Given the description of an element on the screen output the (x, y) to click on. 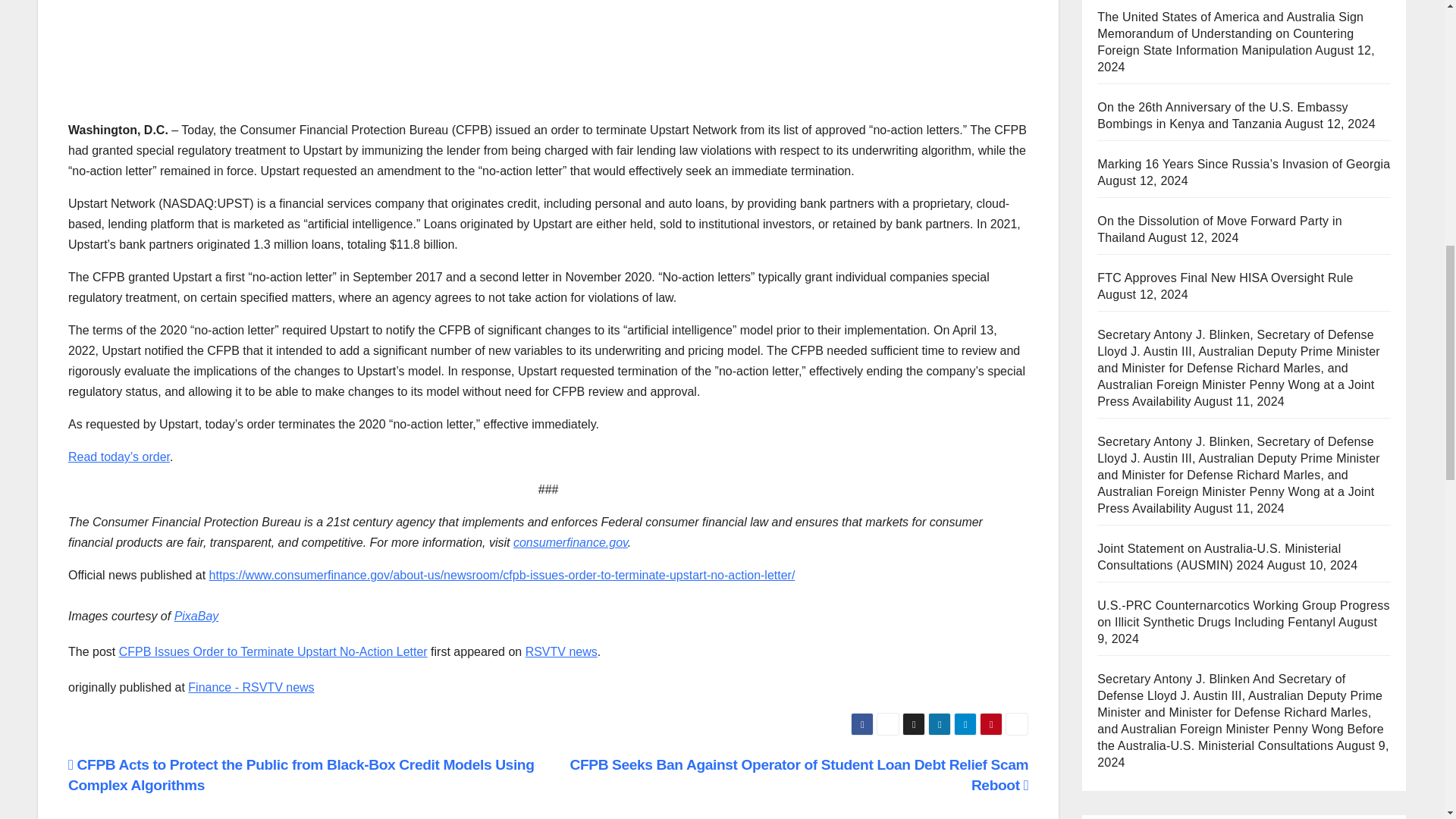
consumerfinance.gov (570, 542)
RSVTV news (560, 651)
PixaBay (196, 615)
Finance - RSVTV news (250, 686)
CFPB Issues Order to Terminate Upstart No-Action Letter (273, 651)
